Given the description of an element on the screen output the (x, y) to click on. 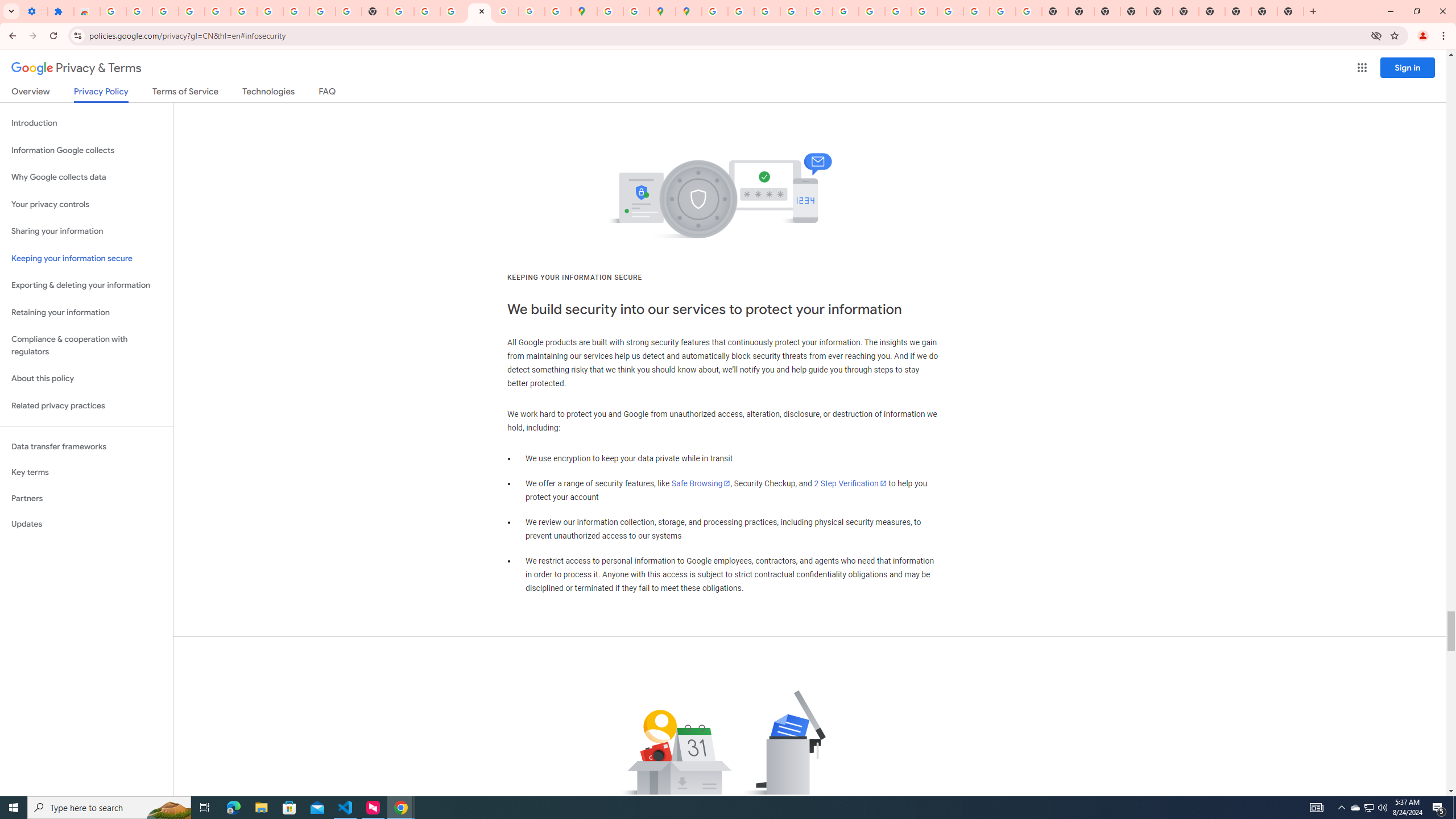
Privacy Help Center - Policies Help (766, 11)
Sign in - Google Accounts (243, 11)
Google Maps (584, 11)
Safe Browsing (700, 483)
Google Account (296, 11)
